Given the description of an element on the screen output the (x, y) to click on. 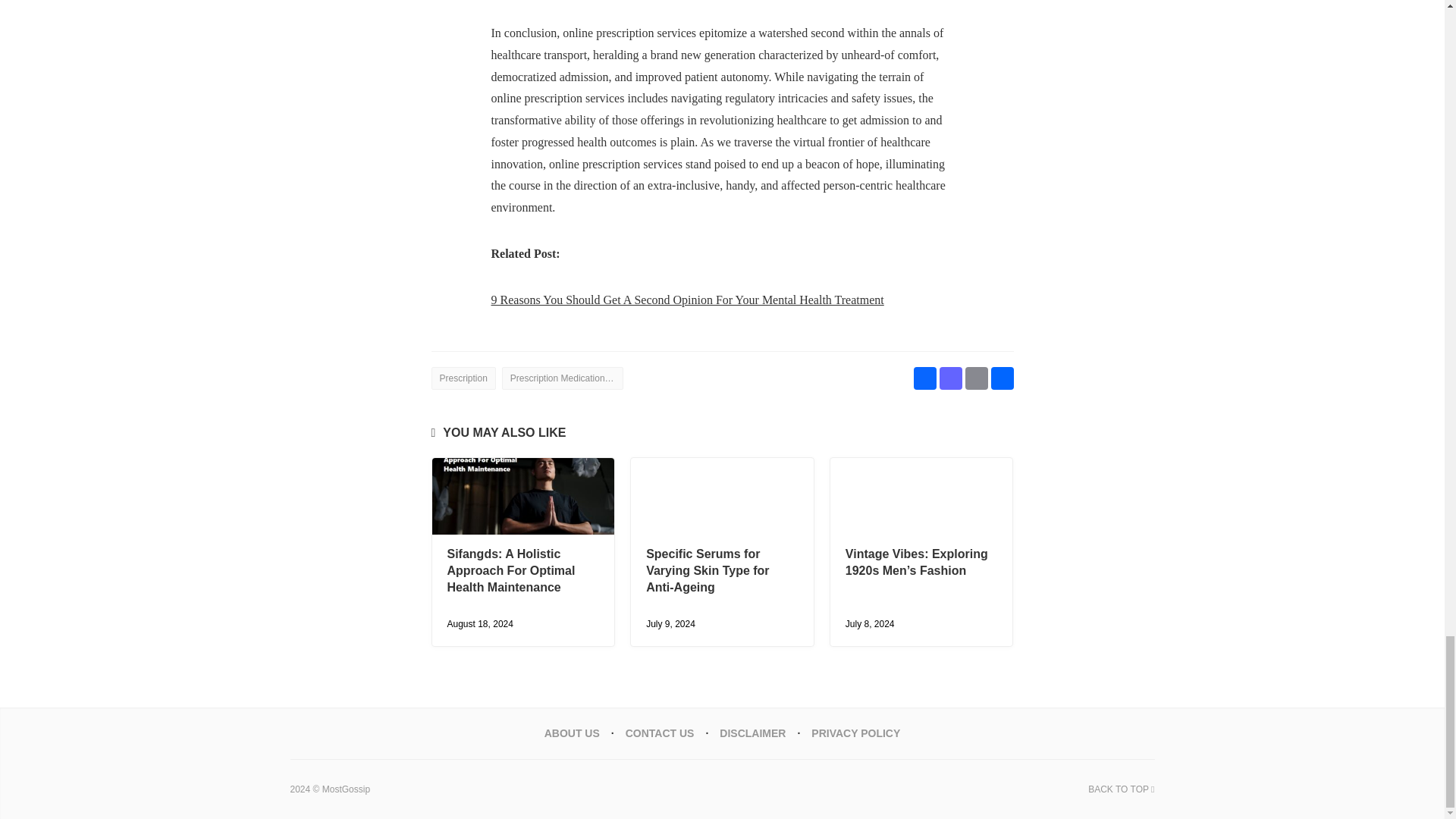
BACK TO TOP  (1120, 789)
View all posts in Prescription (462, 377)
View all posts in Prescription Medication Access (562, 377)
Facebook (924, 379)
